Given the description of an element on the screen output the (x, y) to click on. 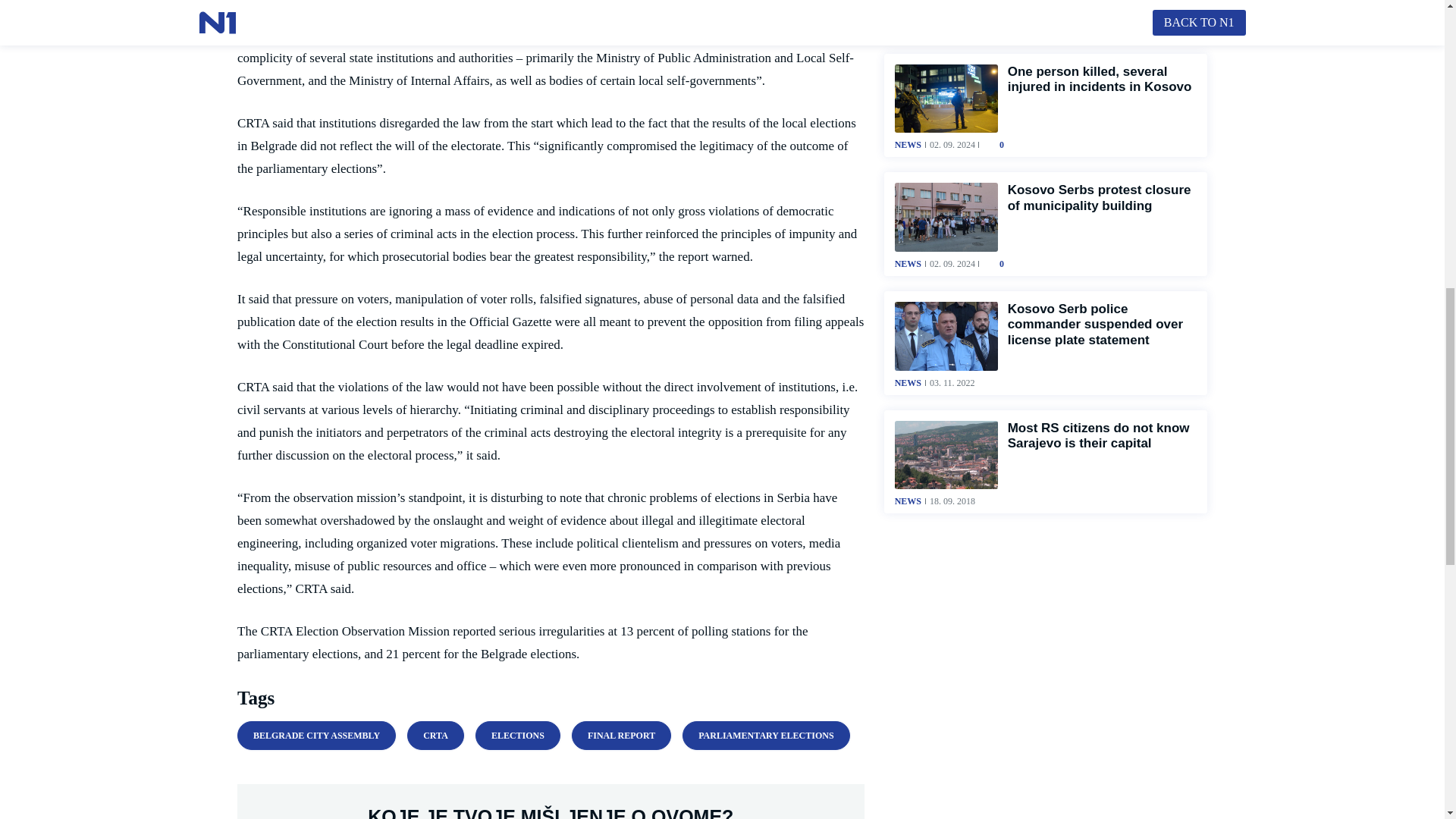
BELGRADE CITY ASSEMBLY (316, 735)
CRTA (435, 735)
FINAL REPORT (621, 735)
PARLIAMENTARY ELECTIONS (765, 735)
ELECTIONS (518, 735)
